Given the description of an element on the screen output the (x, y) to click on. 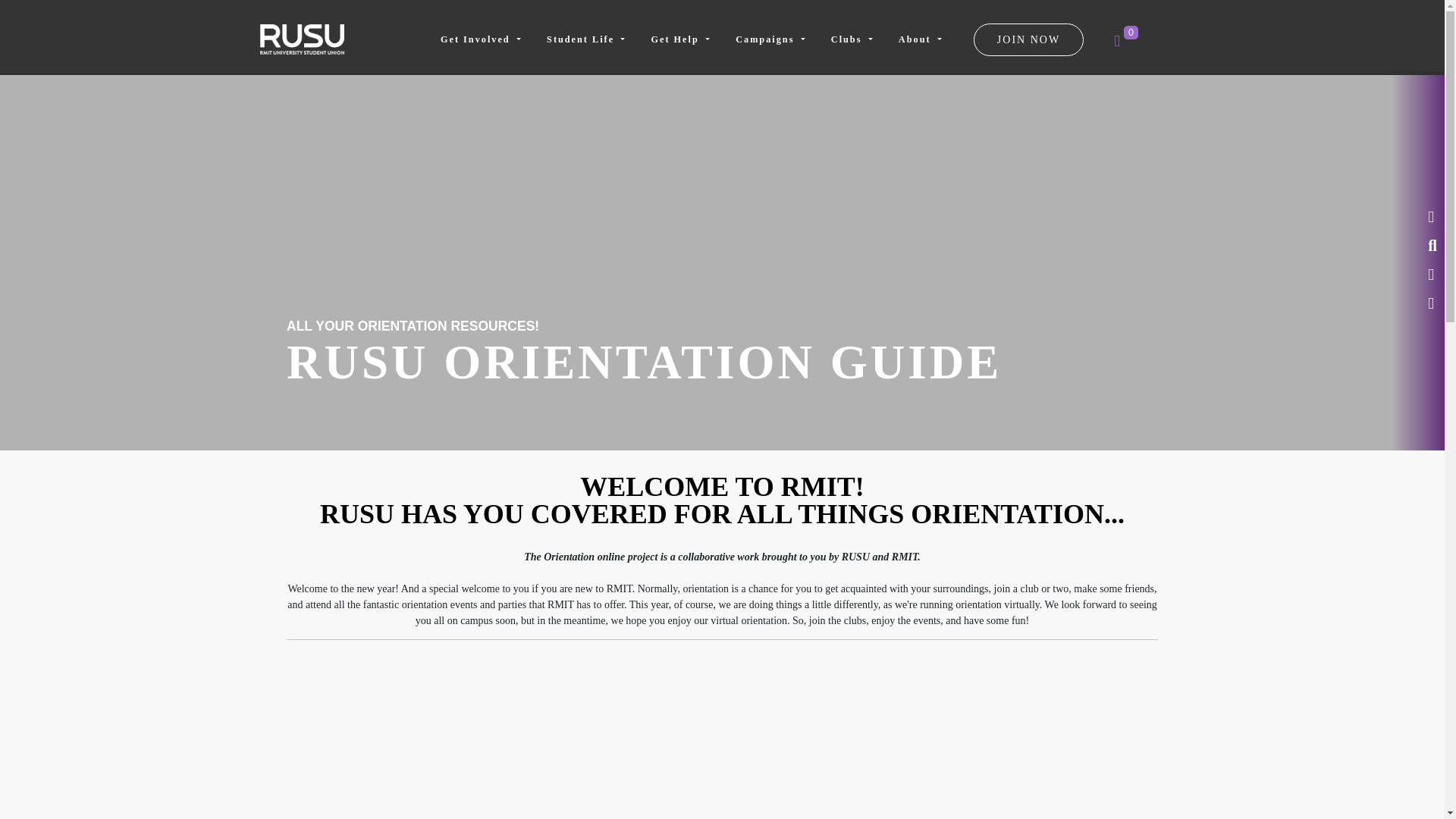
Get Help (679, 38)
JOIN NOW (1028, 38)
Get Involved (481, 38)
Student Life (585, 38)
Campaigns (770, 38)
Clubs (851, 38)
0 (1122, 42)
